Given the description of an element on the screen output the (x, y) to click on. 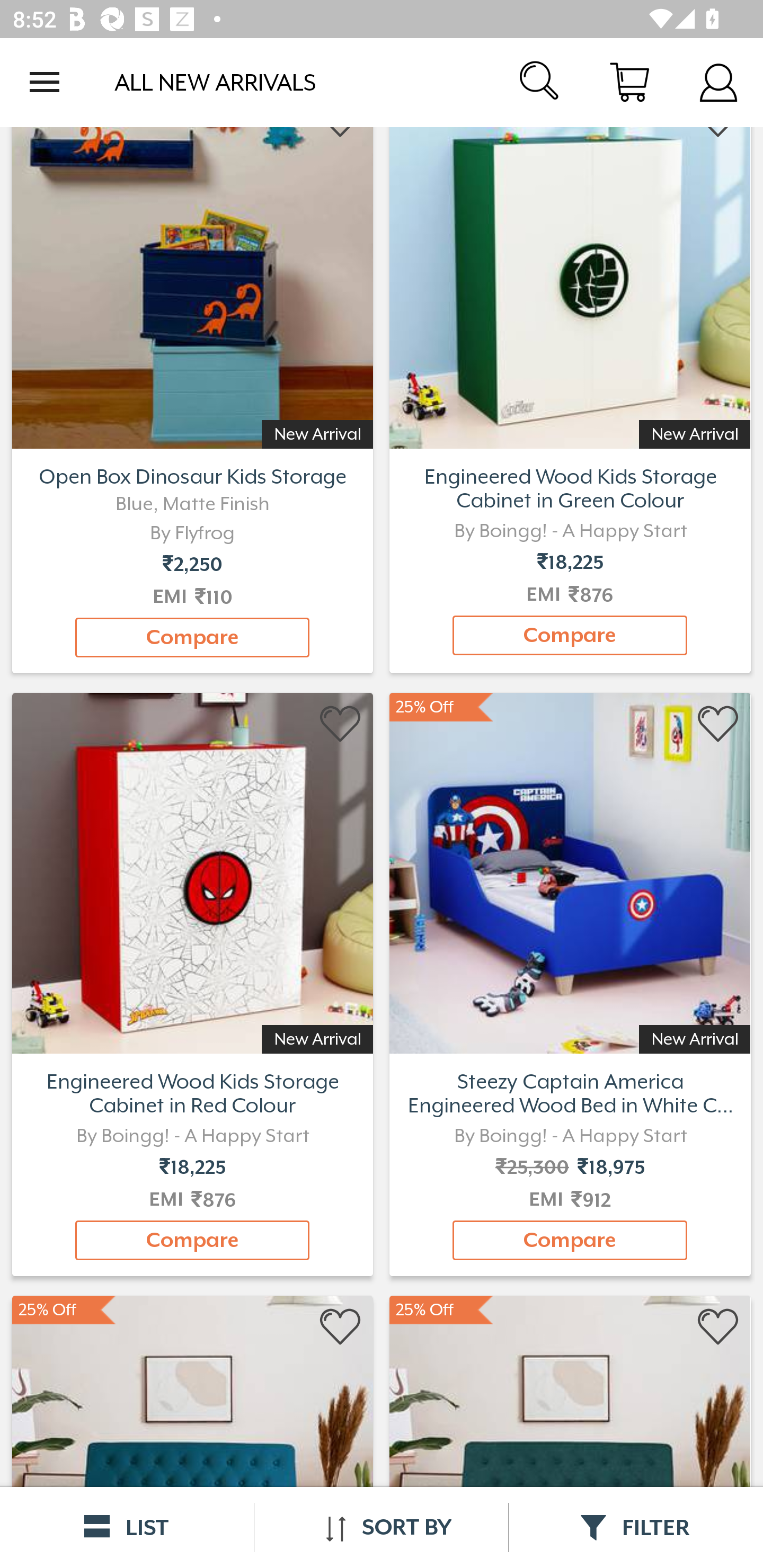
Open navigation drawer (44, 82)
Search (540, 81)
Cart (629, 81)
Account Details (718, 81)
Compare (569, 635)
Compare (192, 636)
 (341, 724)
 (718, 724)
Compare (192, 1239)
Compare (569, 1239)
 (341, 1327)
 (718, 1327)
 LIST (127, 1527)
SORT BY (381, 1527)
 FILTER (635, 1527)
